Given the description of an element on the screen output the (x, y) to click on. 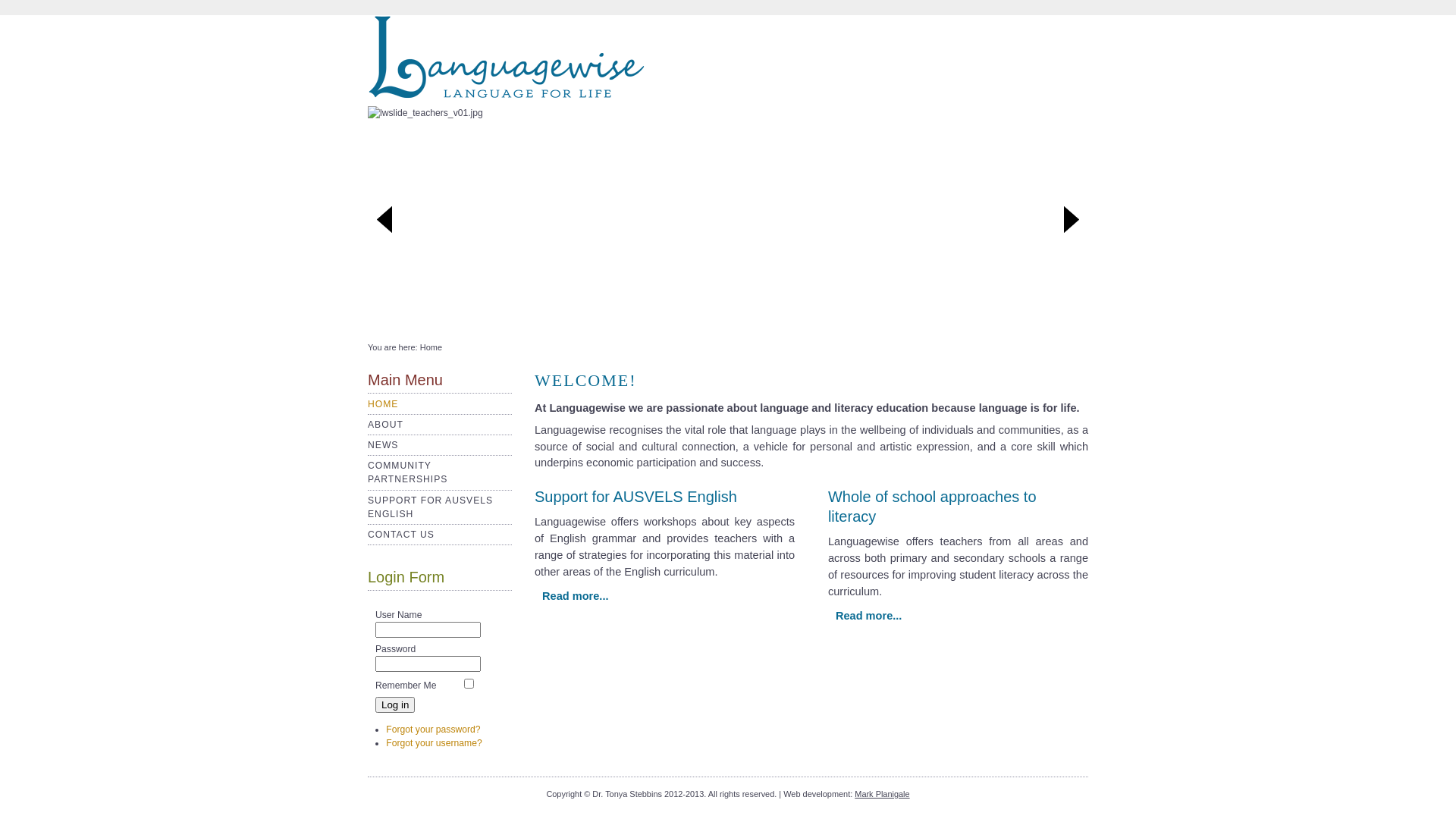
ABOUT Element type: text (385, 424)
HOME Element type: text (382, 403)
Forgot your username? Element type: text (433, 742)
Read more... Element type: text (575, 595)
Mark Planigale Element type: text (881, 793)
Whole of school approaches to literacy Element type: text (932, 506)
COMMUNITY PARTNERSHIPS Element type: text (407, 472)
Forgot your password? Element type: text (432, 729)
SUPPORT FOR AUSVELS ENGLISH Element type: text (429, 507)
Log in Element type: text (394, 704)
CONTACT US Element type: text (400, 534)
Support for AUSVELS English Element type: text (635, 496)
Read more... Element type: text (869, 615)
NEWS Element type: text (382, 444)
